Given the description of an element on the screen output the (x, y) to click on. 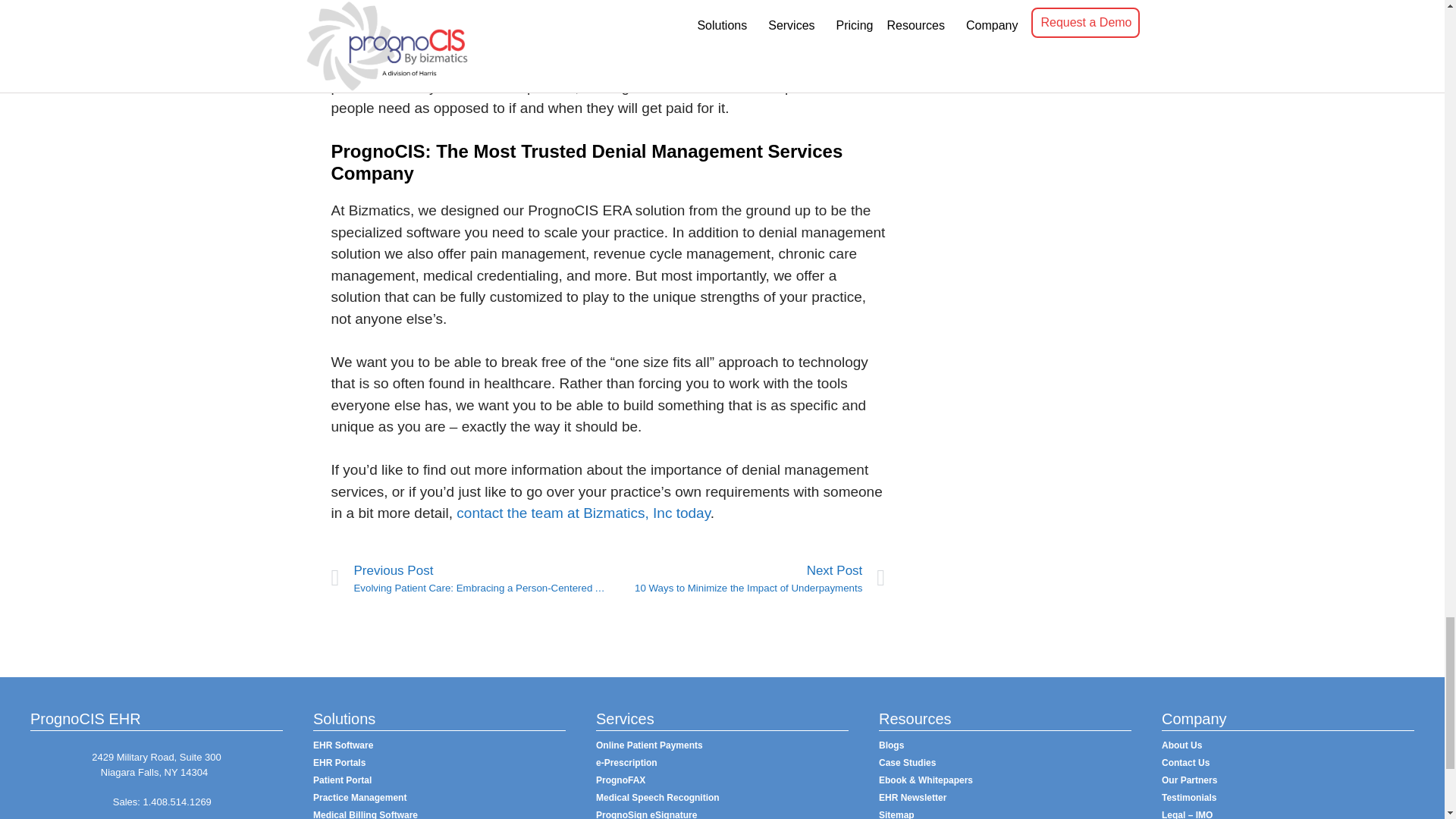
contact the team at Bizmatics, Inc today (583, 512)
